Given the description of an element on the screen output the (x, y) to click on. 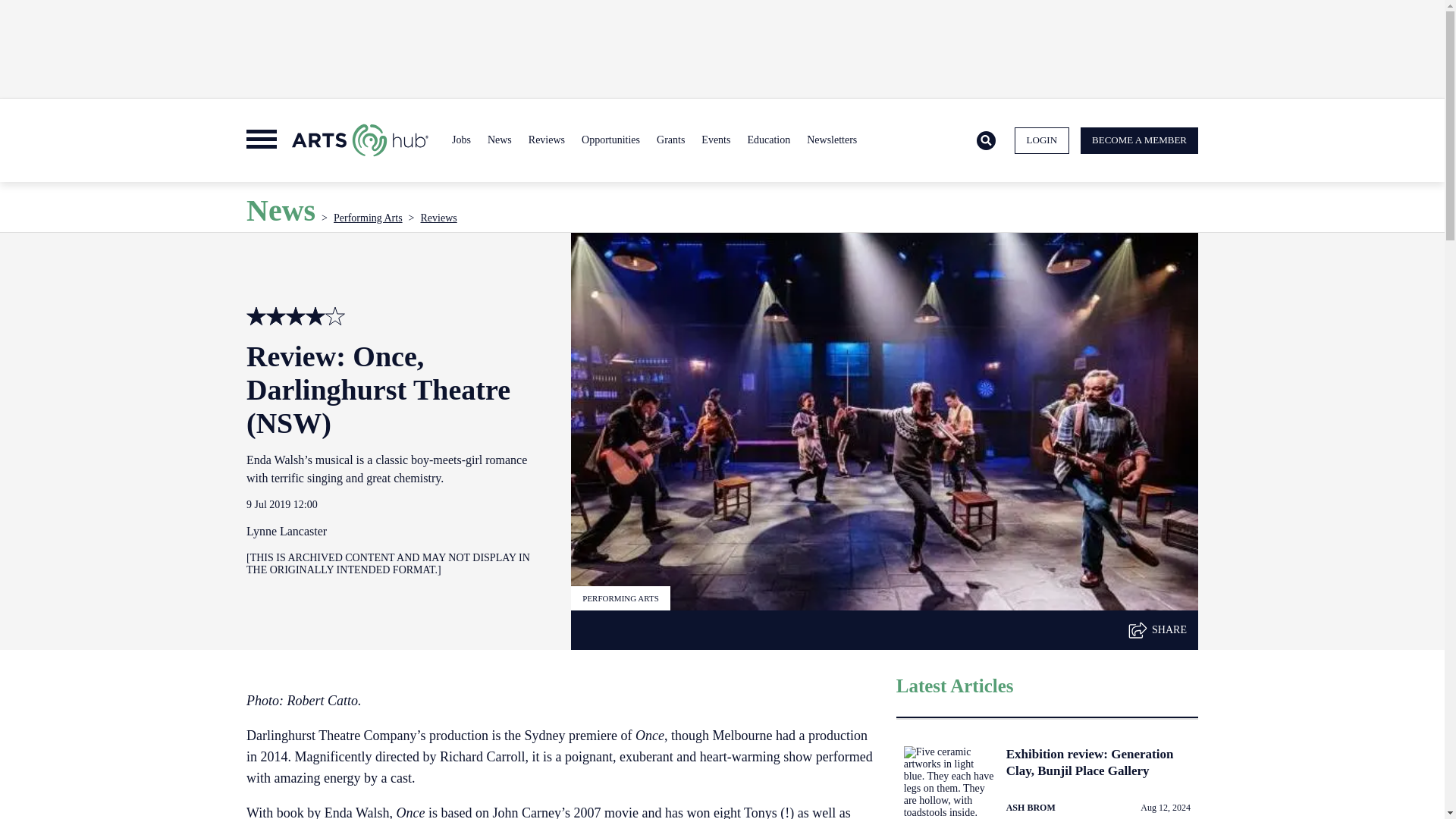
News (498, 139)
Stars (295, 316)
LOGIN (1041, 140)
Stars (334, 316)
Search Icon (985, 140)
Search Icon (985, 139)
Newsletters (832, 139)
Jobs (461, 139)
Stars (314, 316)
Stars (256, 316)
